Given the description of an element on the screen output the (x, y) to click on. 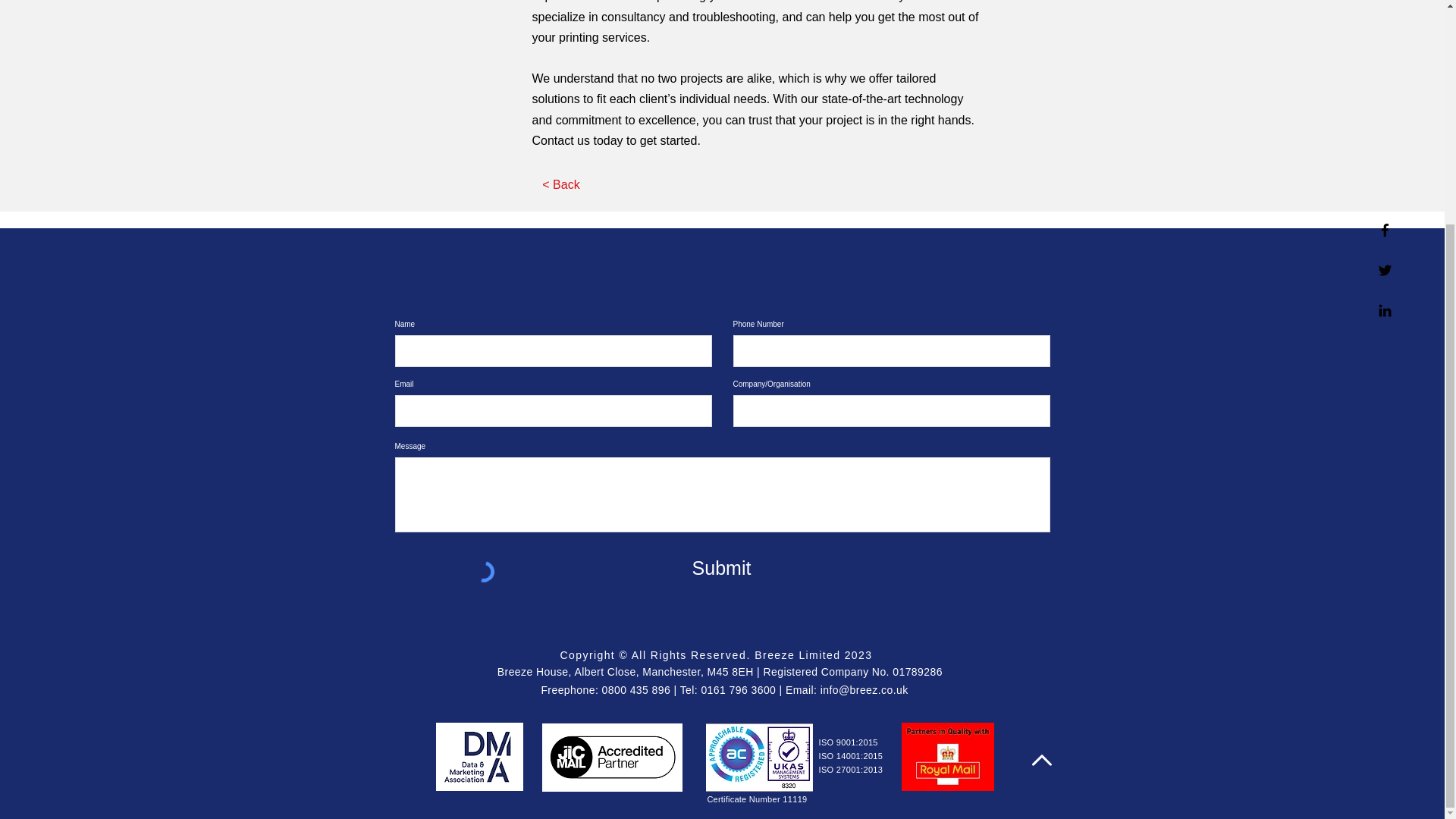
0161 796 3600 (738, 689)
0800 435 896 (636, 689)
Submit (720, 567)
